Given the description of an element on the screen output the (x, y) to click on. 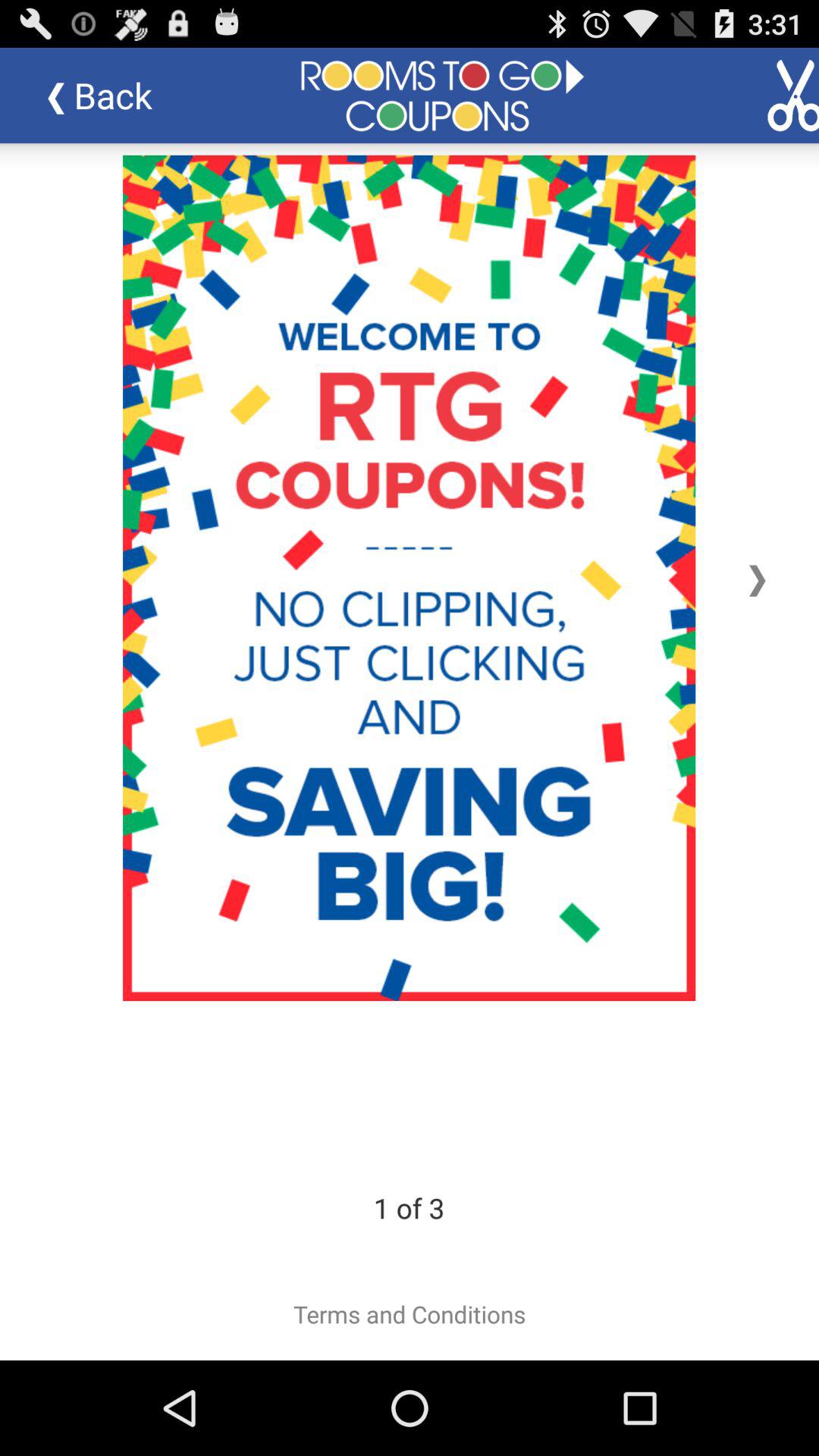
click terms and conditions icon (409, 1313)
